Given the description of an element on the screen output the (x, y) to click on. 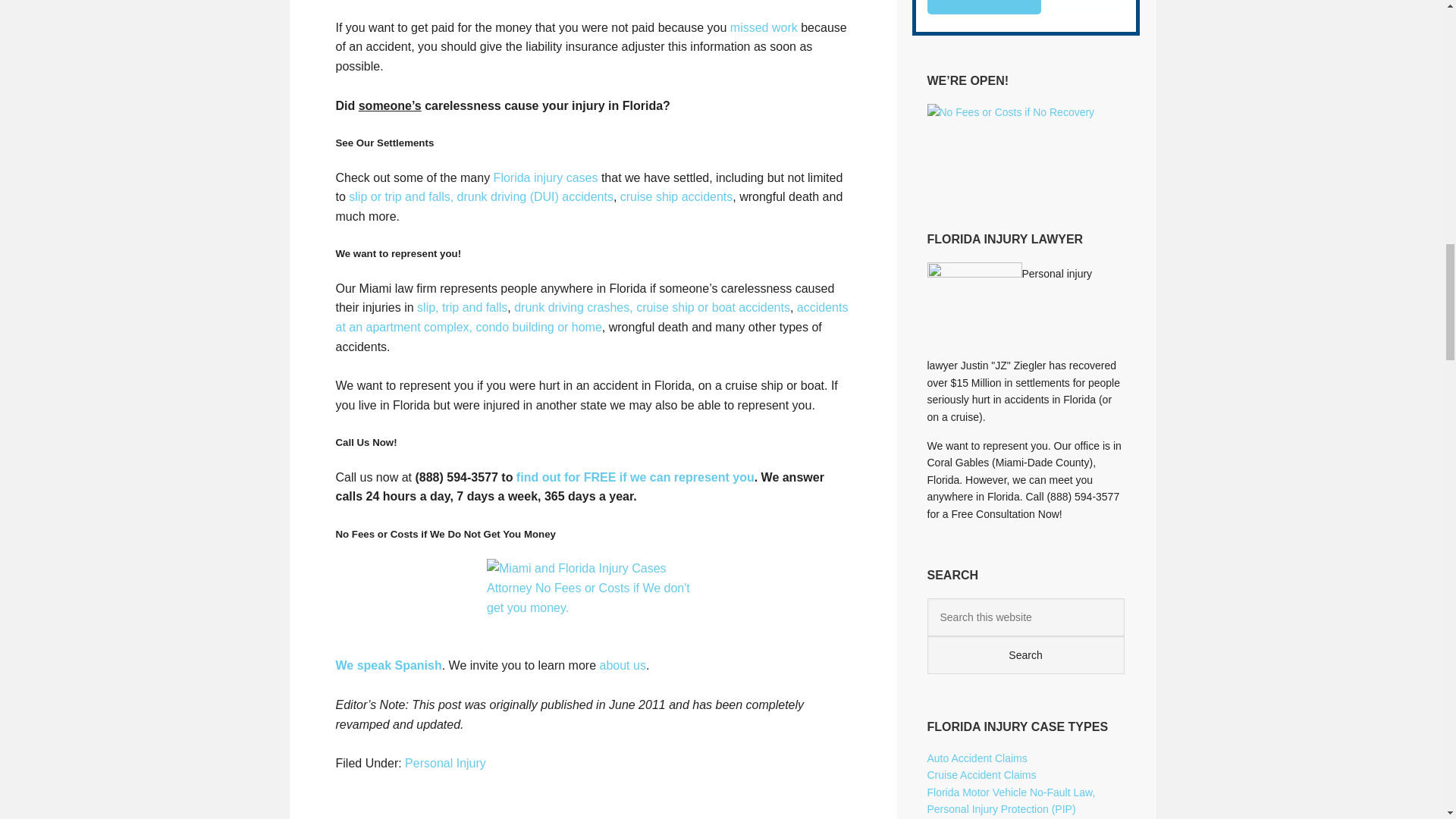
Submit (983, 7)
Search (1025, 655)
Search (1025, 655)
